Given the description of an element on the screen output the (x, y) to click on. 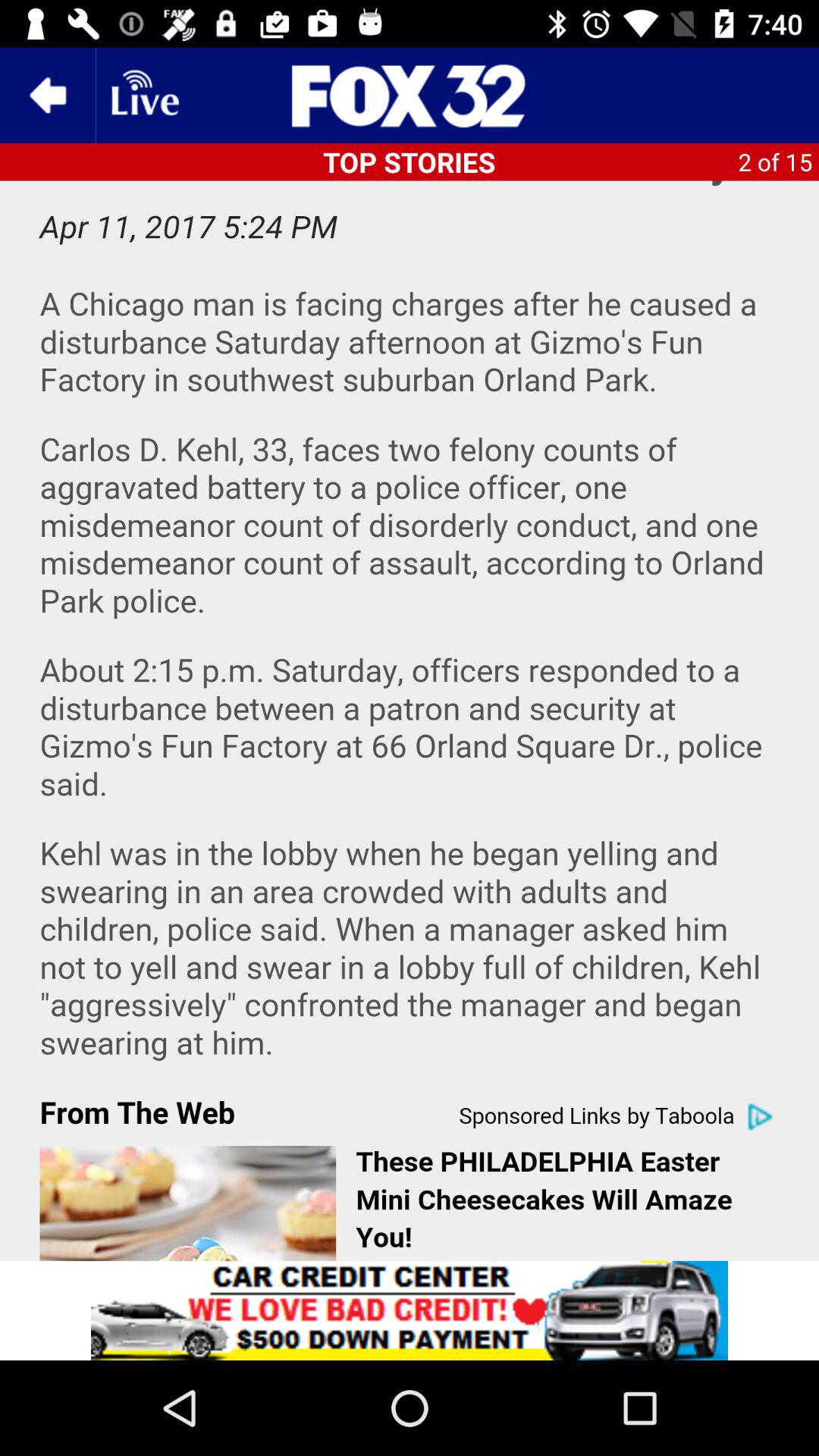
advartisement (409, 1310)
